Given the description of an element on the screen output the (x, y) to click on. 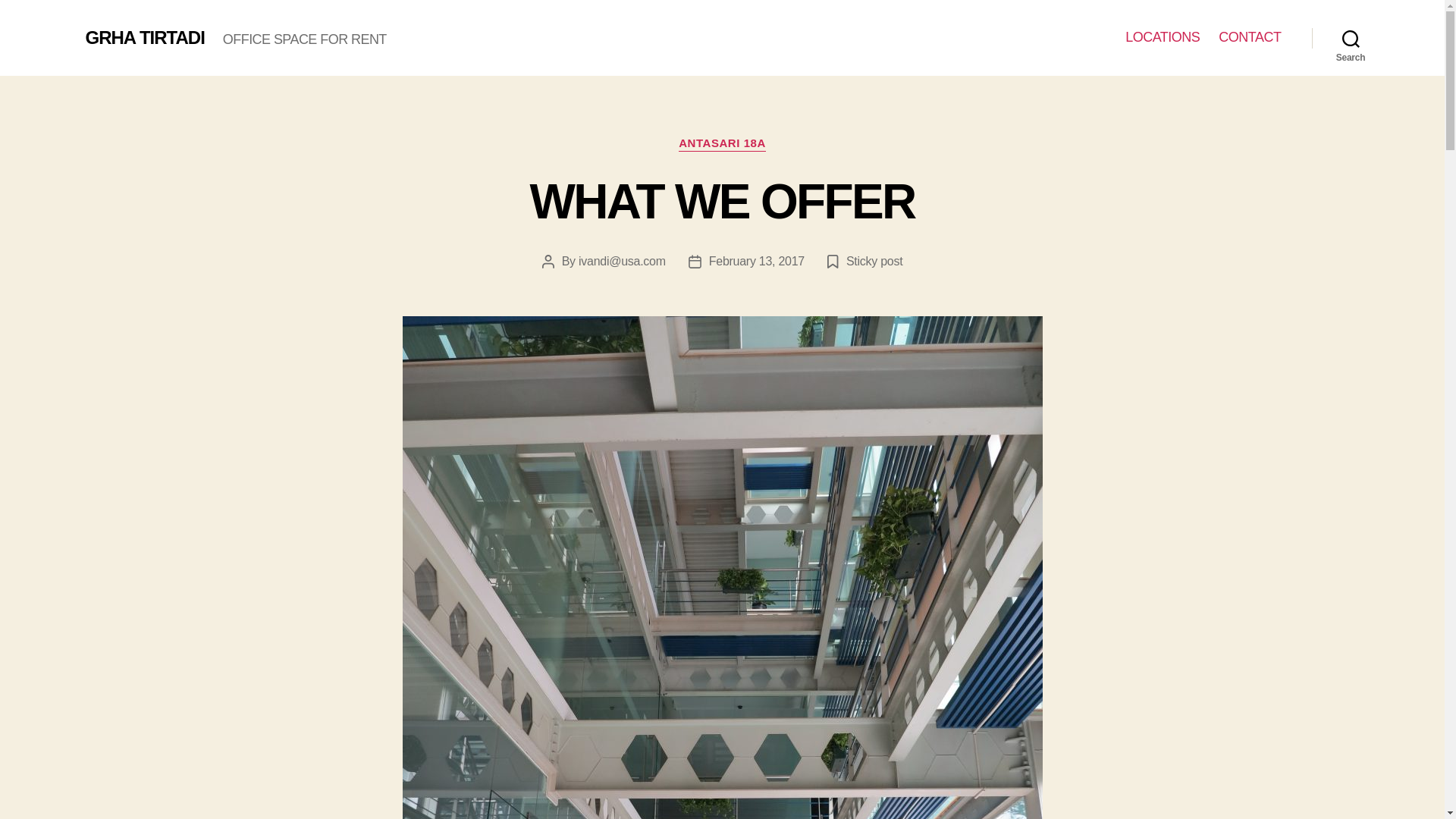
Search (1350, 37)
LOCATIONS (1162, 37)
WHAT WE OFFER (721, 201)
CONTACT (1249, 37)
February 13, 2017 (757, 260)
ANTASARI 18A (721, 143)
GRHA TIRTADI (143, 37)
